Given the description of an element on the screen output the (x, y) to click on. 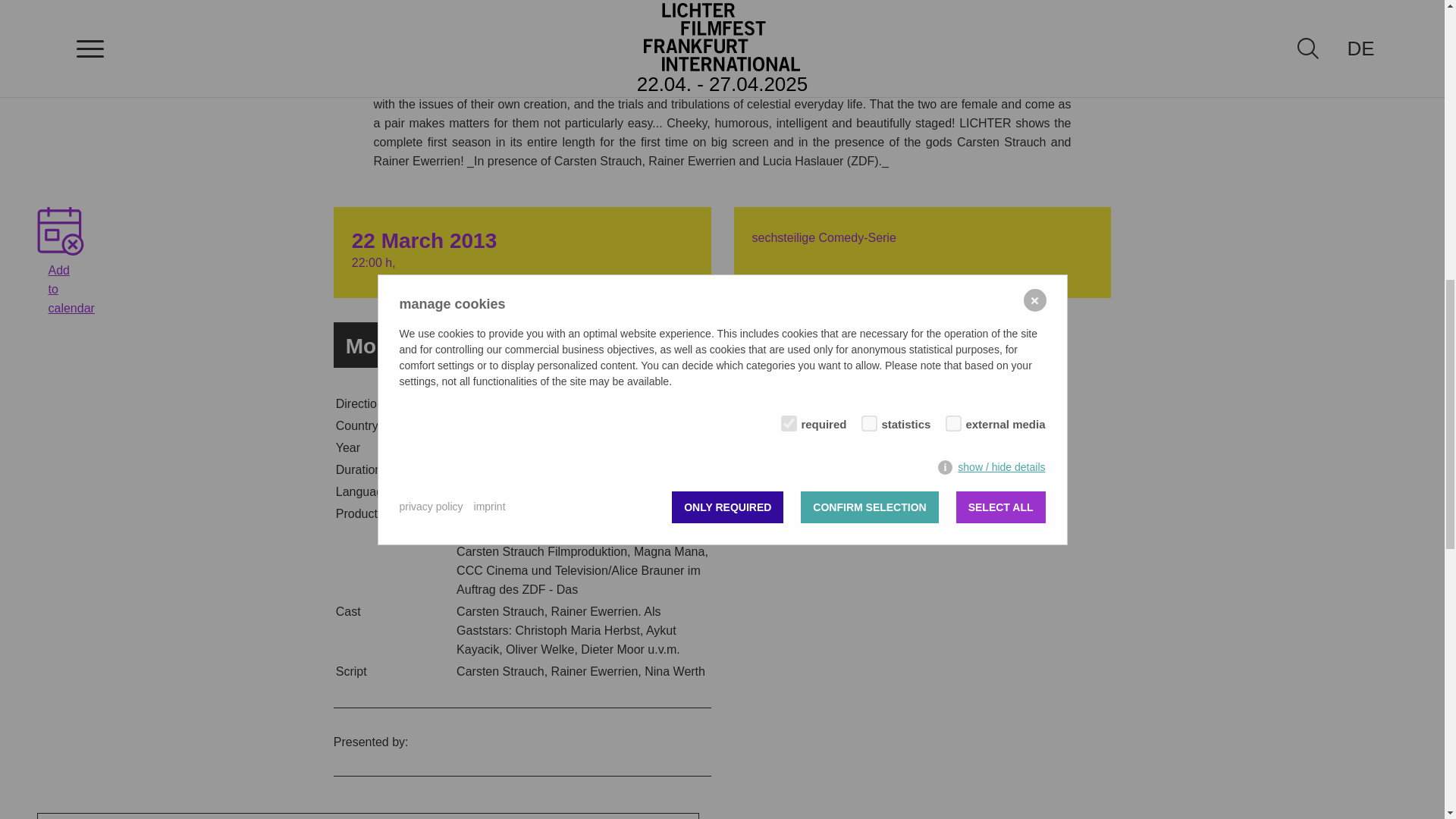
Lichter Filmfest (60, 231)
